Given the description of an element on the screen output the (x, y) to click on. 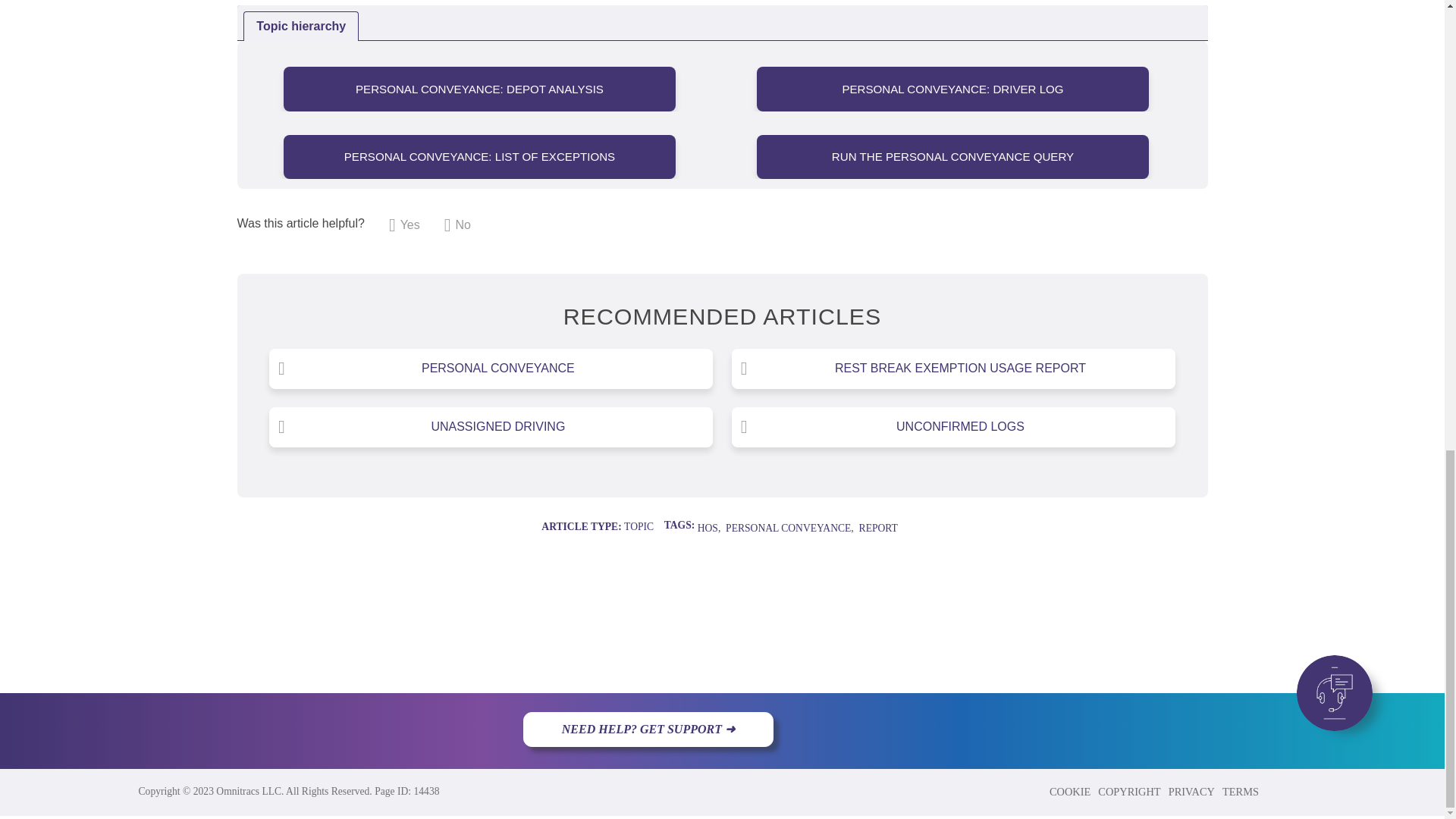
PERSONAL CONVEYANCE (490, 368)
Yes (404, 224)
Topic hierarchy (721, 22)
PERSONAL CONVEYANCE: DRIVER LOG (951, 88)
Personal Conveyance: Driver Log (951, 88)
Topic hierarchy (301, 26)
TOPIC (638, 526)
HOS (707, 527)
RUN THE PERSONAL CONVEYANCE QUERY (952, 156)
Run the Personal Conveyance Query (952, 156)
REST BREAK EXEMPTION USAGE REPORT (953, 368)
PERSONAL CONVEYANCE: DEPOT ANALYSIS (479, 88)
Personal Conveyance: List of Exceptions (478, 156)
PERSONAL CONVEYANCE (787, 527)
